Given the description of an element on the screen output the (x, y) to click on. 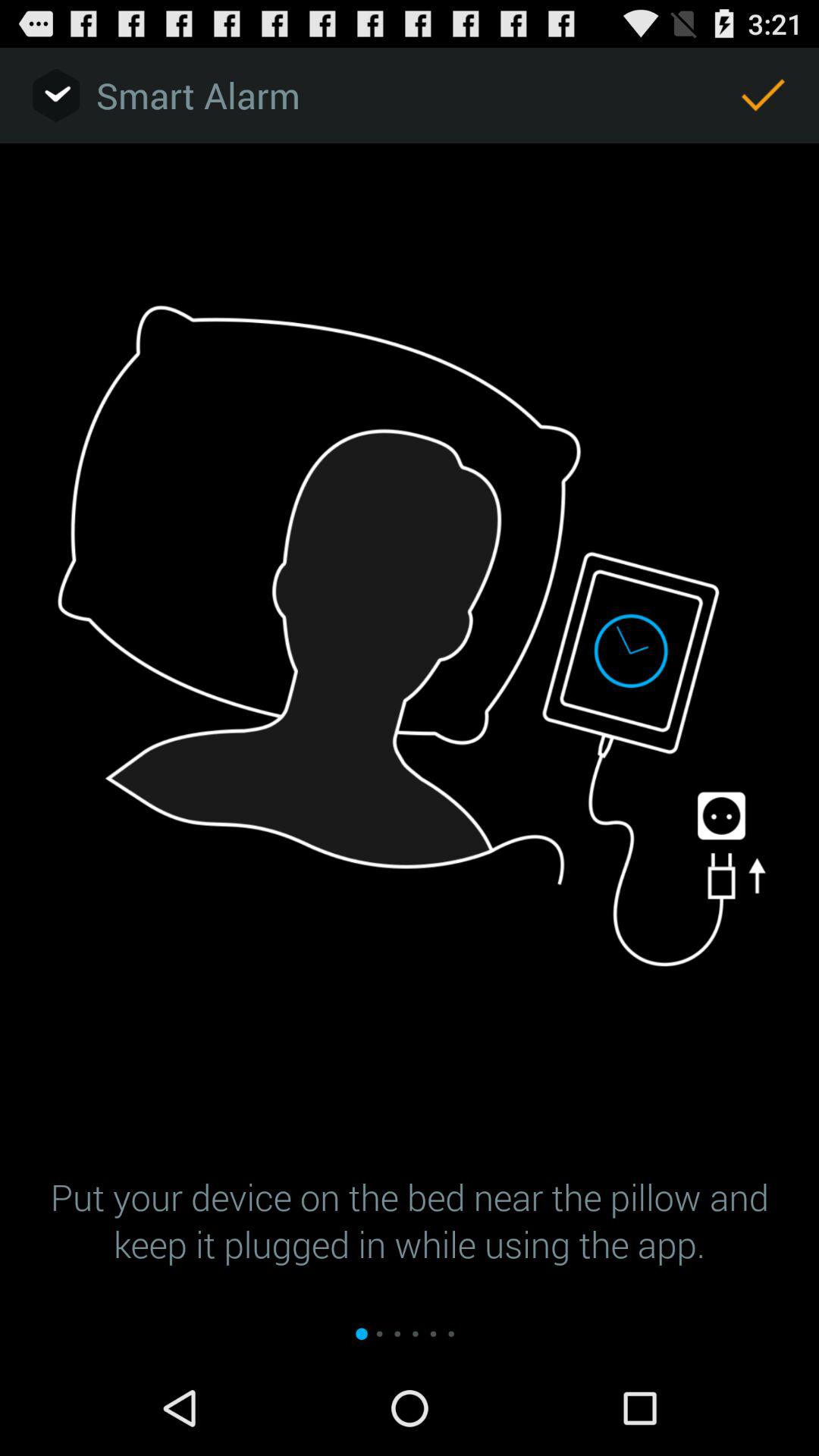
turn off item to the right of smart alarm (763, 95)
